Given the description of an element on the screen output the (x, y) to click on. 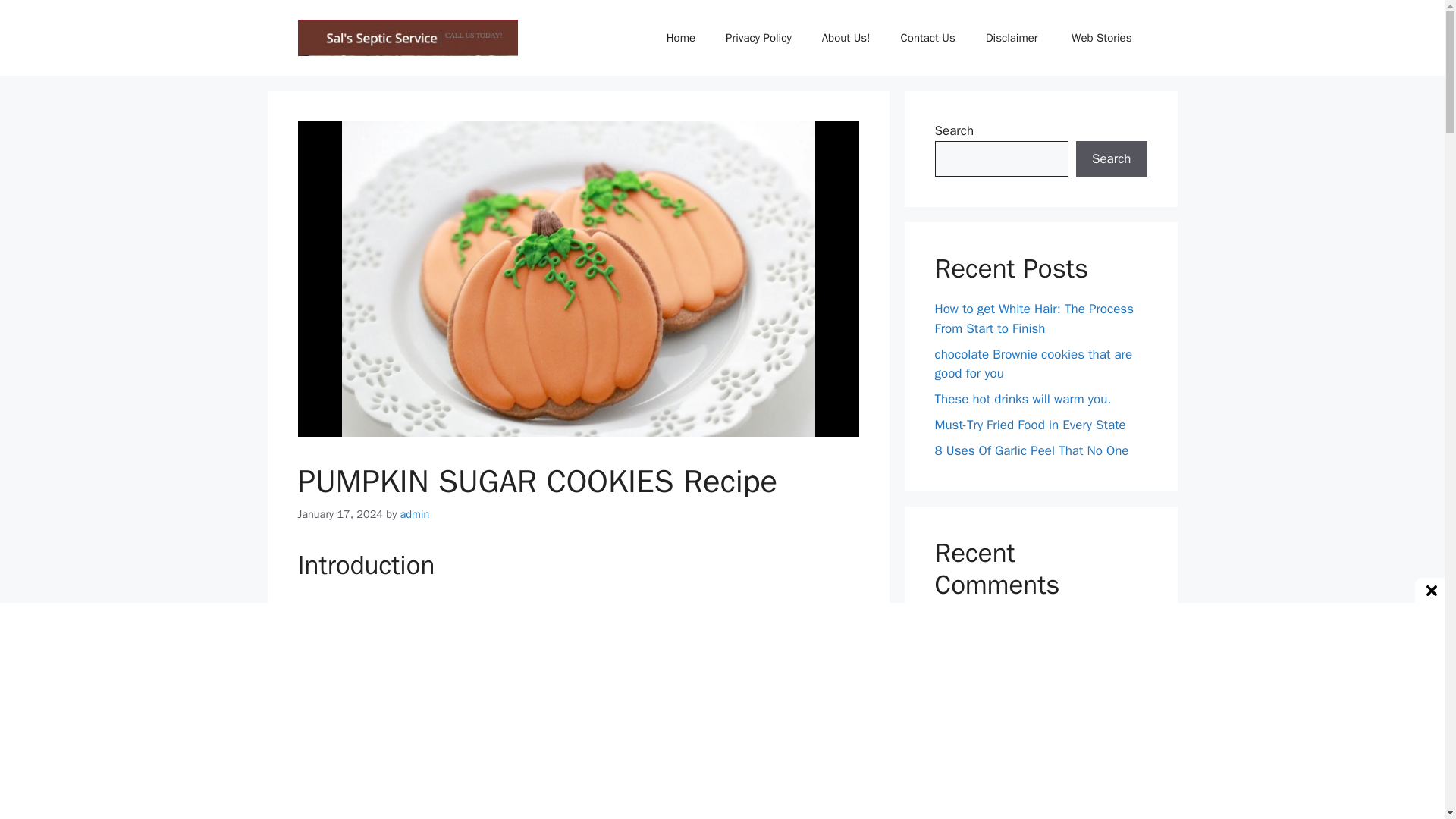
Advertisement (578, 702)
Home (680, 37)
chocolate Brownie cookies that are good for you (1033, 363)
Privacy Policy (758, 37)
About Us! (845, 37)
View all posts by admin (414, 513)
How to get White Hair: The Process From Start to Finish (1033, 318)
Contact Us (928, 37)
